Given the description of an element on the screen output the (x, y) to click on. 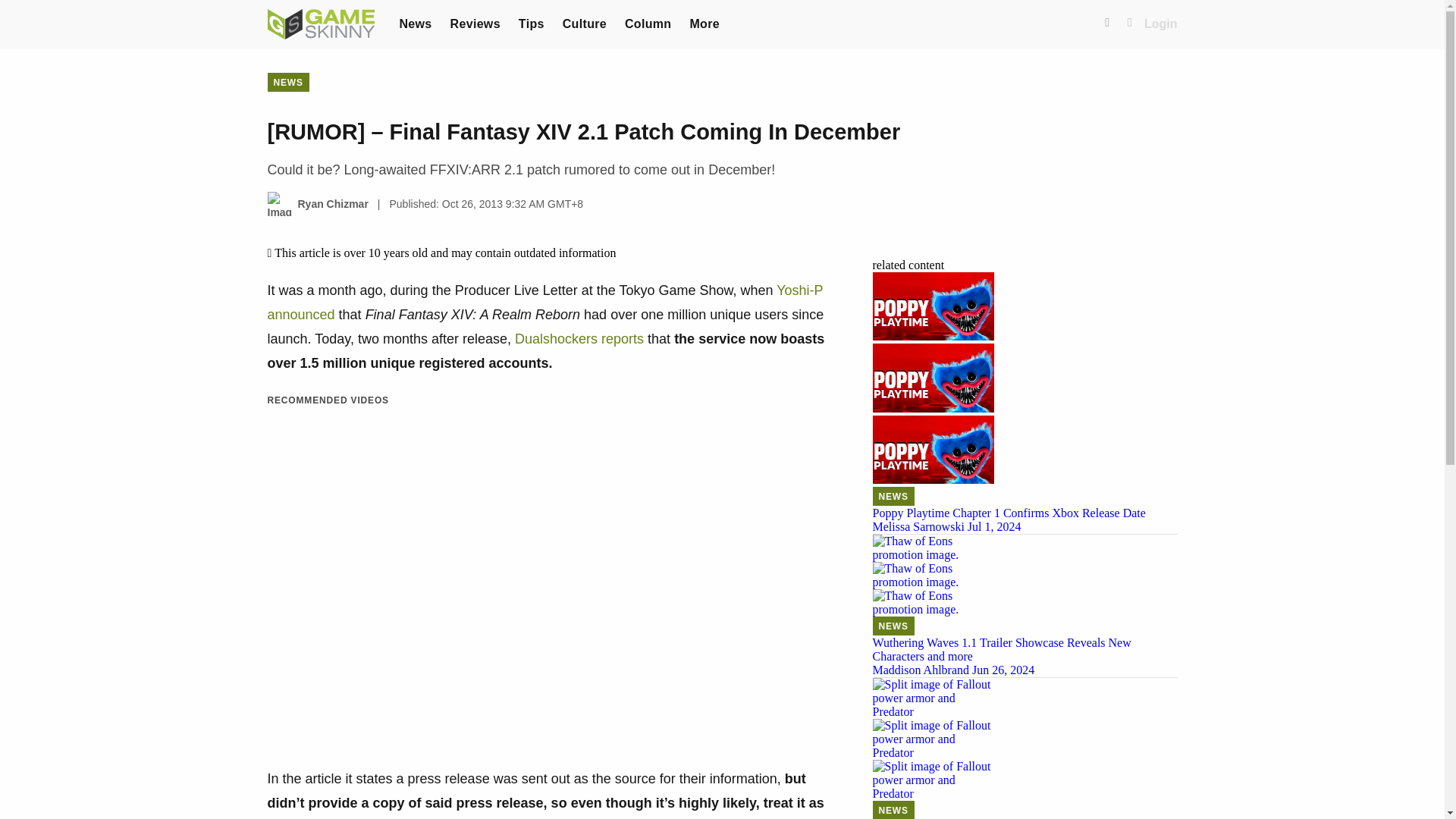
Login (1160, 23)
Tips (531, 23)
News (414, 23)
Culture (584, 23)
Column (647, 23)
Reviews (474, 23)
